Given the description of an element on the screen output the (x, y) to click on. 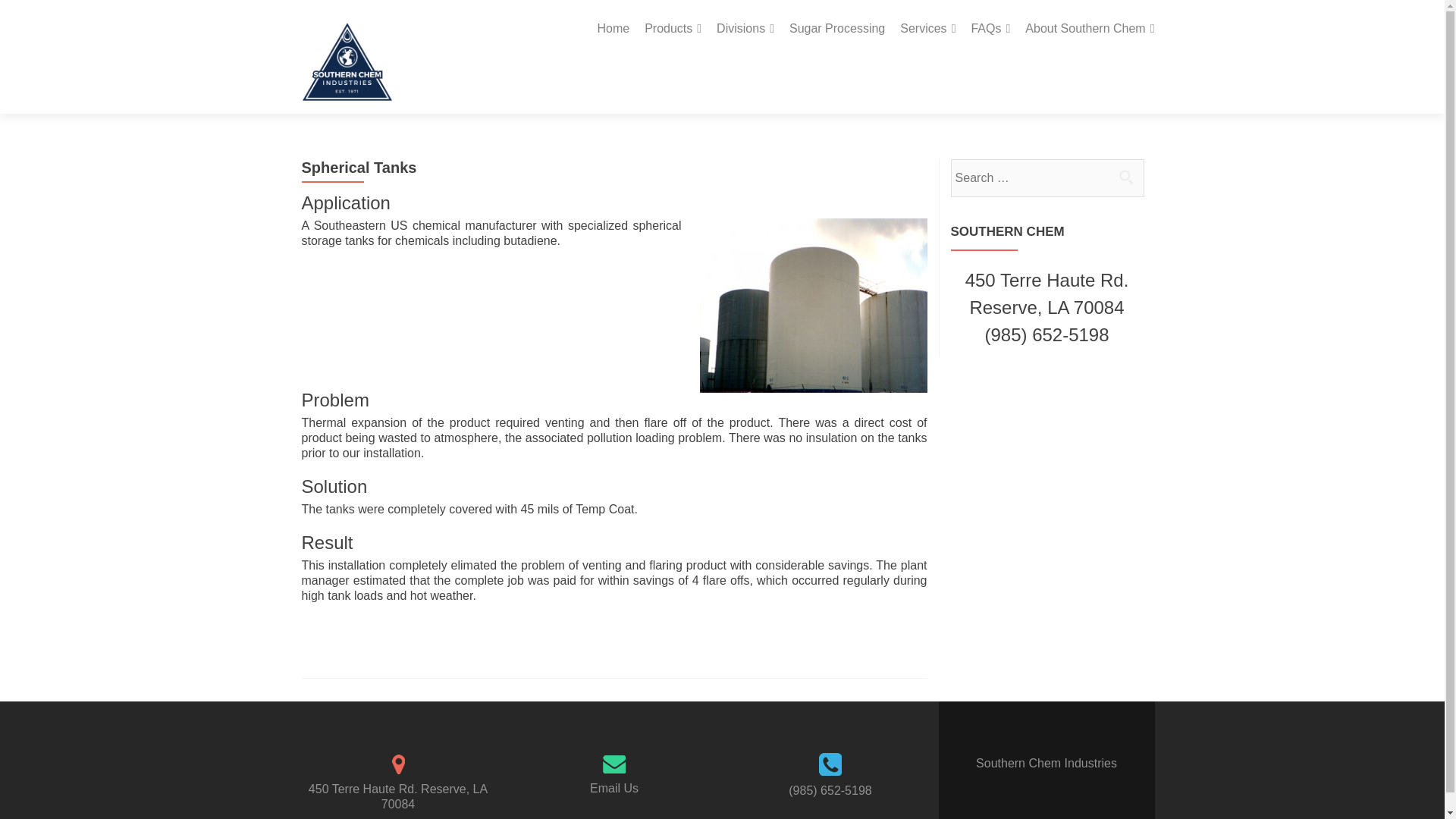
About Southern Chem (1089, 28)
Services (927, 28)
FAQs (990, 28)
Products (673, 28)
Search (1125, 176)
Search (1125, 176)
Divisions (745, 28)
Email Us (614, 788)
Sugar Processing (837, 28)
Search (1125, 176)
Home (612, 28)
